Given the description of an element on the screen output the (x, y) to click on. 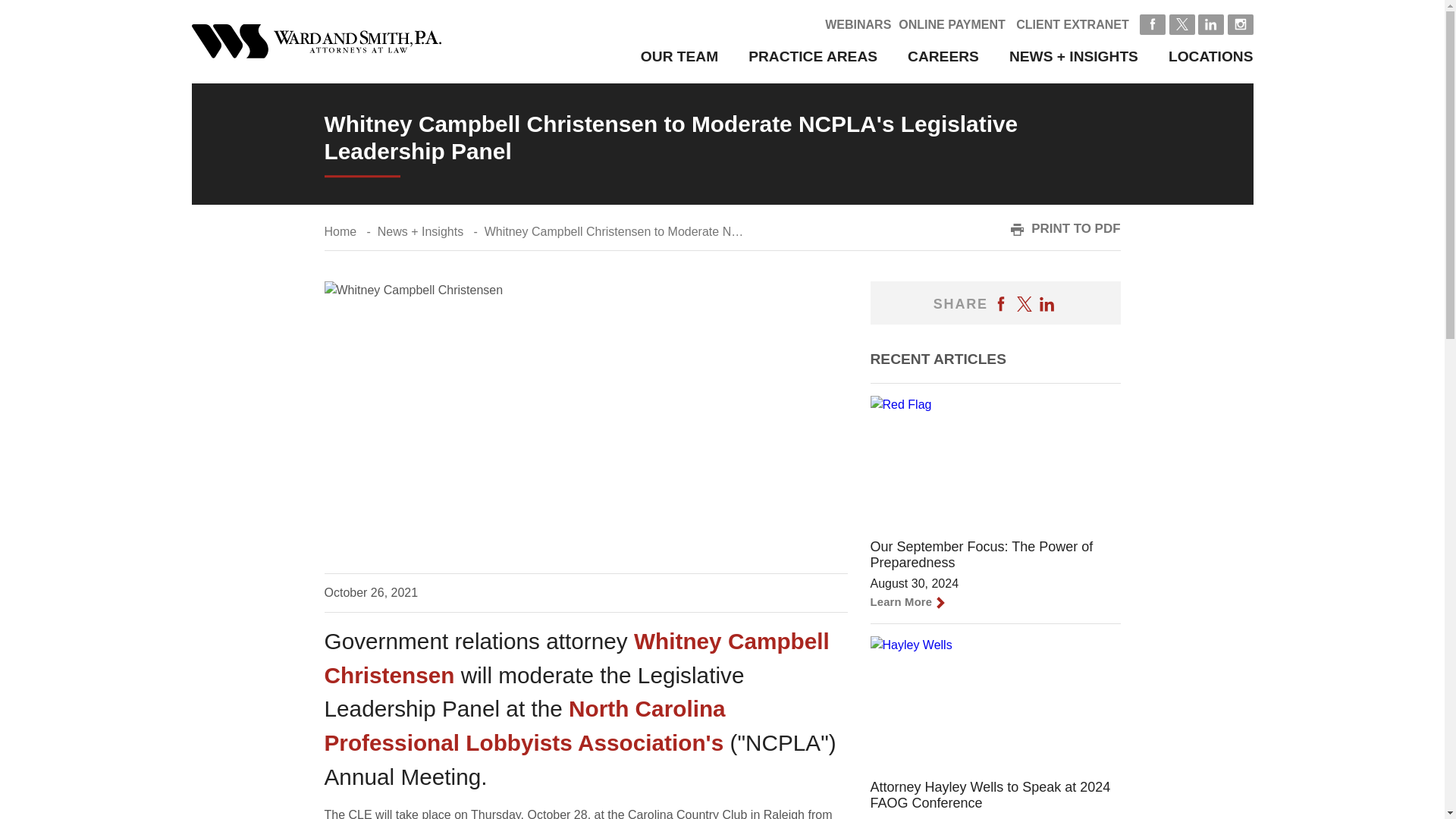
WEBINARS (858, 24)
Share on Facebook (1000, 304)
North Carolina Professional Lobbyists Association's (524, 725)
LOCATIONS (1211, 56)
Whitney Campbell Christensen (576, 657)
Share on LinkedIn (1046, 304)
CLIENT EXTRANET (1072, 24)
Whitney Campbell Christensen (576, 657)
Share on Twitter (1024, 304)
